Given the description of an element on the screen output the (x, y) to click on. 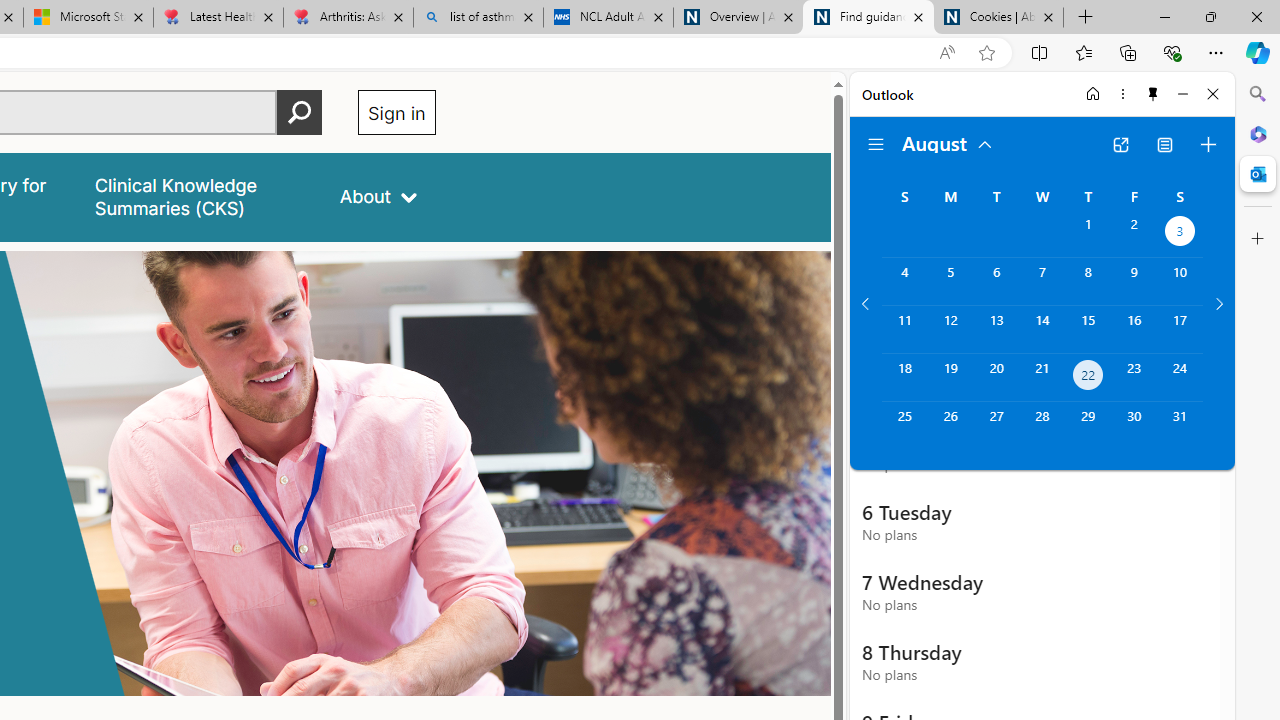
Saturday, August 17, 2024.  (1180, 329)
About (378, 196)
Perform search (299, 112)
Thursday, August 8, 2024.  (1088, 281)
Monday, August 5, 2024.  (950, 281)
Tuesday, August 27, 2024.  (996, 425)
Sunday, August 11, 2024.  (904, 329)
Sunday, August 18, 2024.  (904, 377)
